Given the description of an element on the screen output the (x, y) to click on. 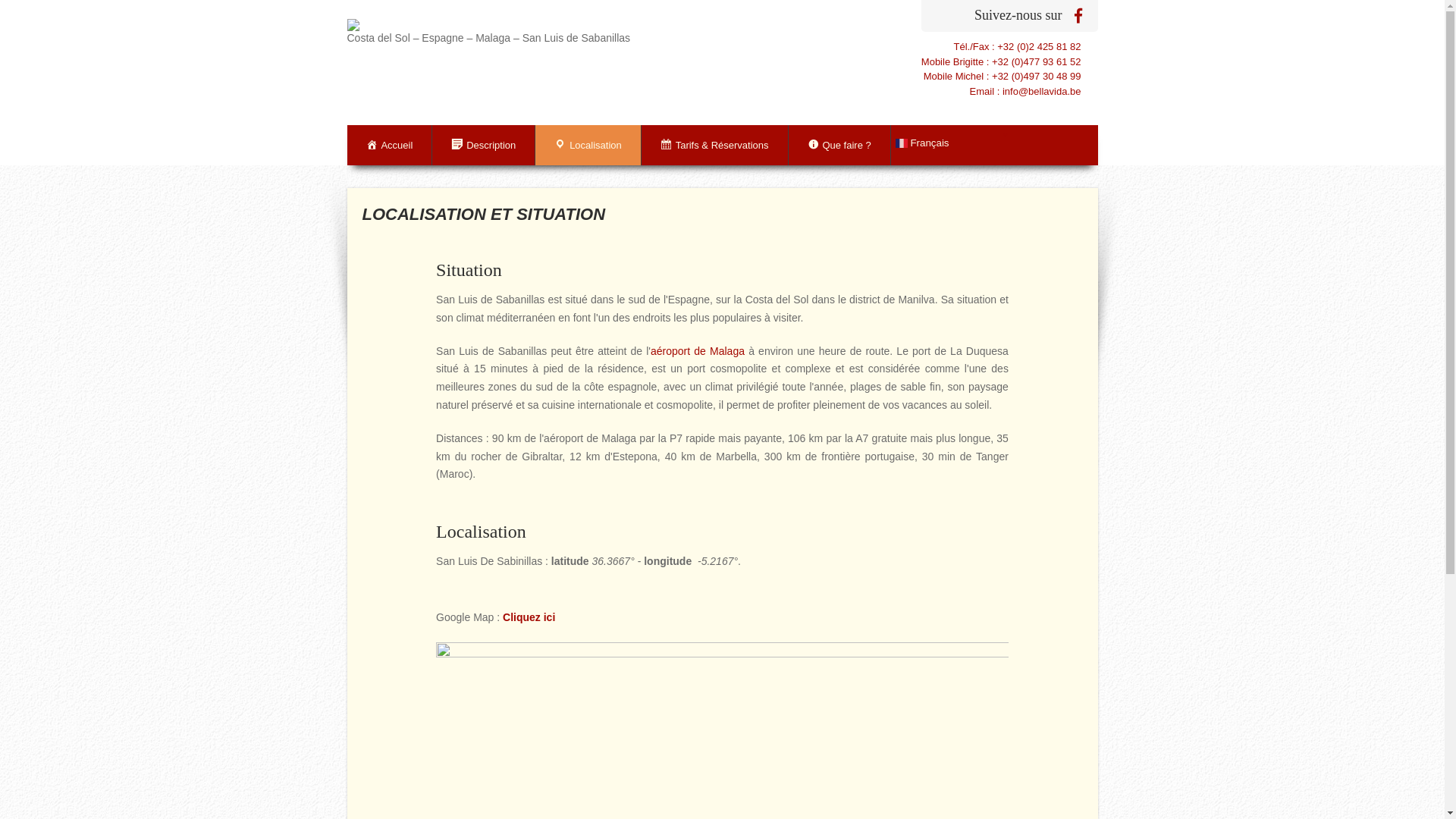
Cliquez ici Element type: text (528, 617)
Accueil Element type: text (390, 145)
Localisation Element type: text (588, 145)
Que faire ? Element type: text (839, 145)
info@bellavida.be Element type: text (1041, 90)
Description Element type: text (483, 145)
